Given the description of an element on the screen output the (x, y) to click on. 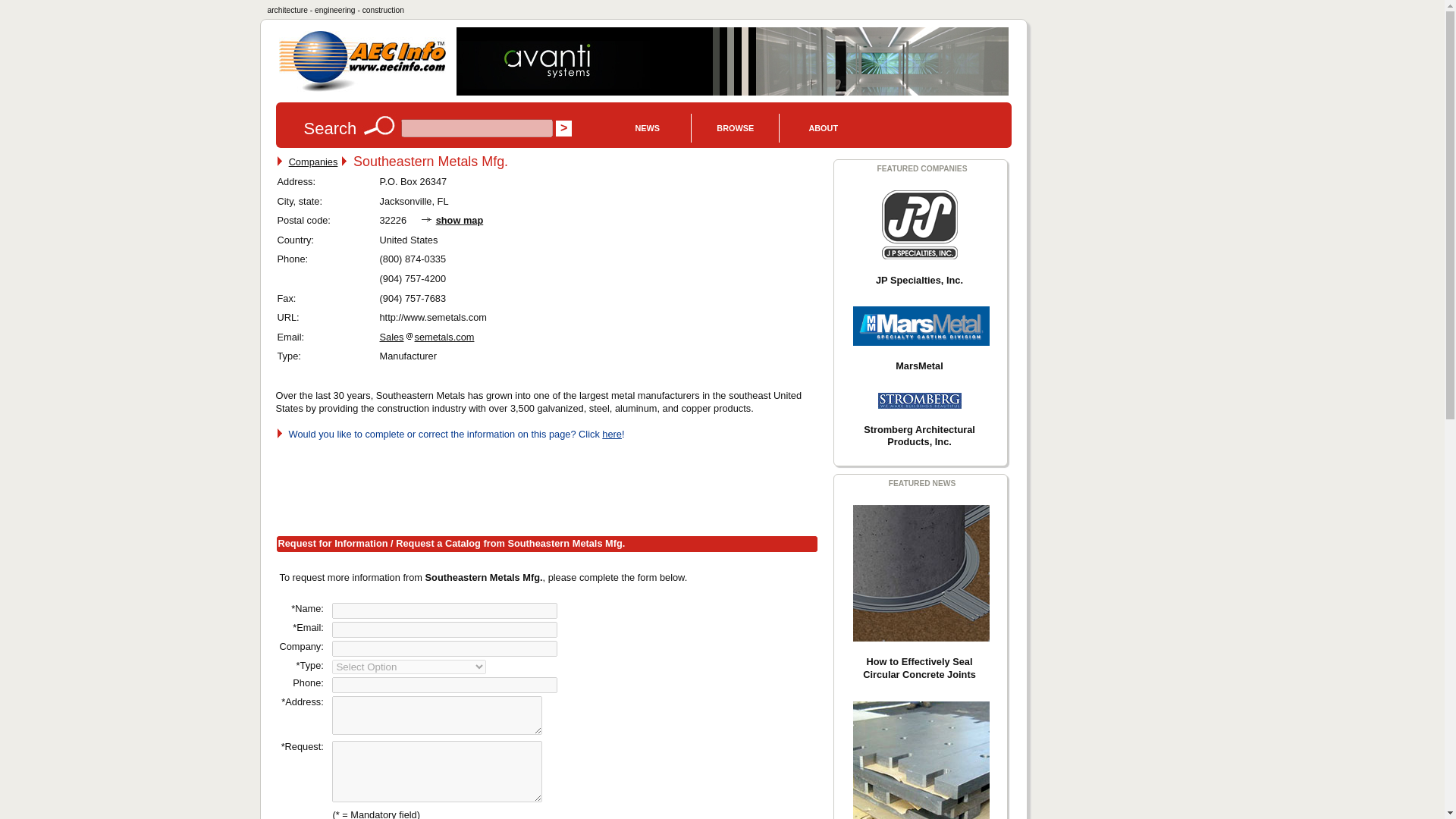
show map (459, 220)
Avanti Systems (733, 61)
Salessemetals.com (426, 337)
JP Specialties, Inc. (918, 224)
MarsMetal (919, 325)
NEWS (647, 131)
AECinfo.com (362, 61)
Stromberg Architectural Products, Inc. (918, 400)
BROWSE (734, 131)
Go to AECinfo.com homepage (362, 89)
Commercial Elevator Counterweights from MarsMetal (919, 760)
How to Effectively Seal Circular Concrete Joints (919, 573)
Advertisement (552, 485)
here (611, 433)
ABOUT (822, 131)
